Given the description of an element on the screen output the (x, y) to click on. 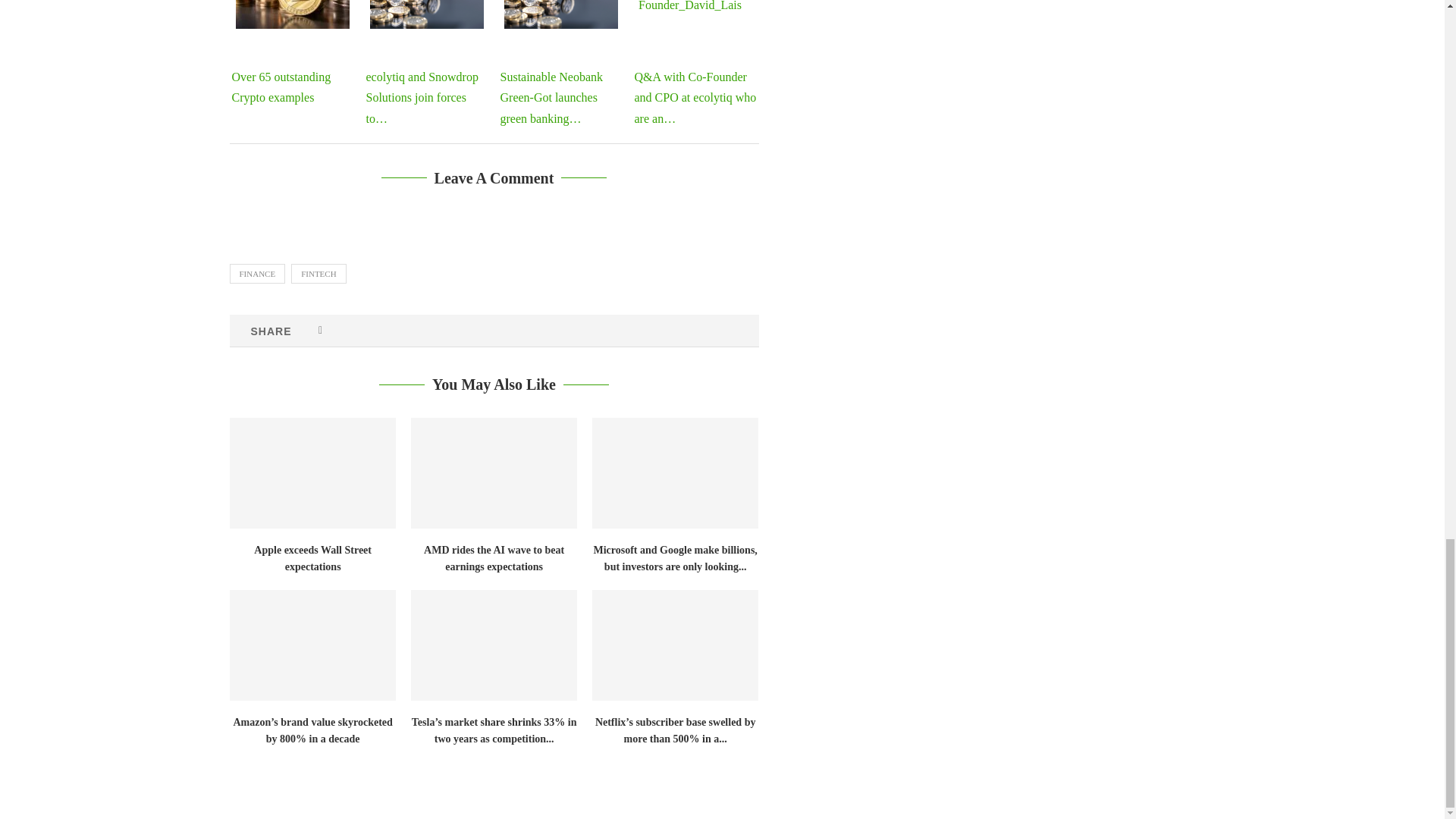
Over 65 outstanding Crypto examples (292, 14)
AMD rides the AI wave to beat earnings expectations (493, 472)
Apple exceeds Wall Street expectations (311, 472)
